Given the description of an element on the screen output the (x, y) to click on. 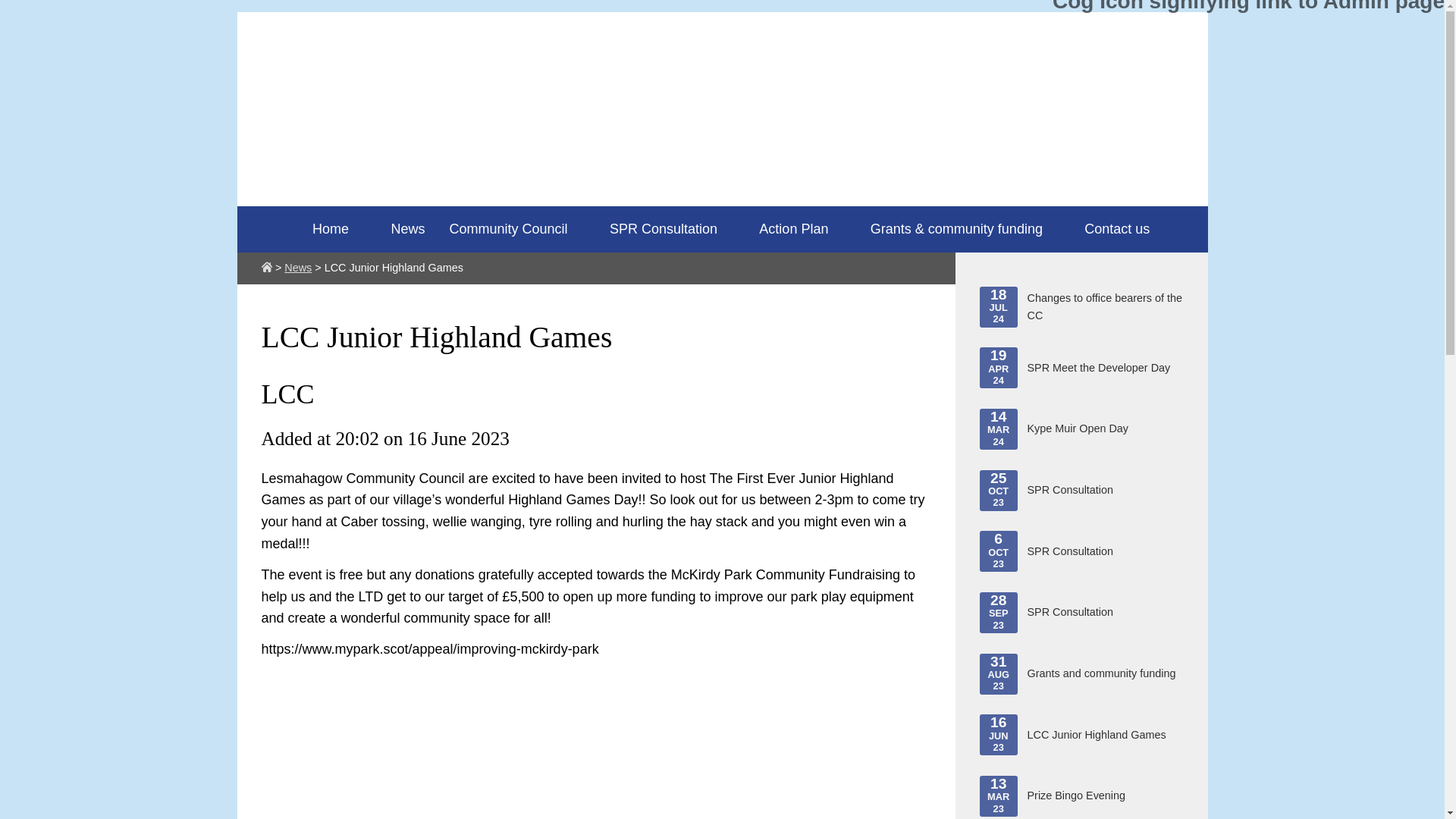
Community Council (507, 229)
News (398, 229)
Skip to Main Content (1081, 673)
Contact us (1081, 367)
News (1081, 490)
Home (721, 12)
SPR Consultation (1107, 229)
Members (1081, 428)
Kype Muir Community Fund (297, 267)
